Given the description of an element on the screen output the (x, y) to click on. 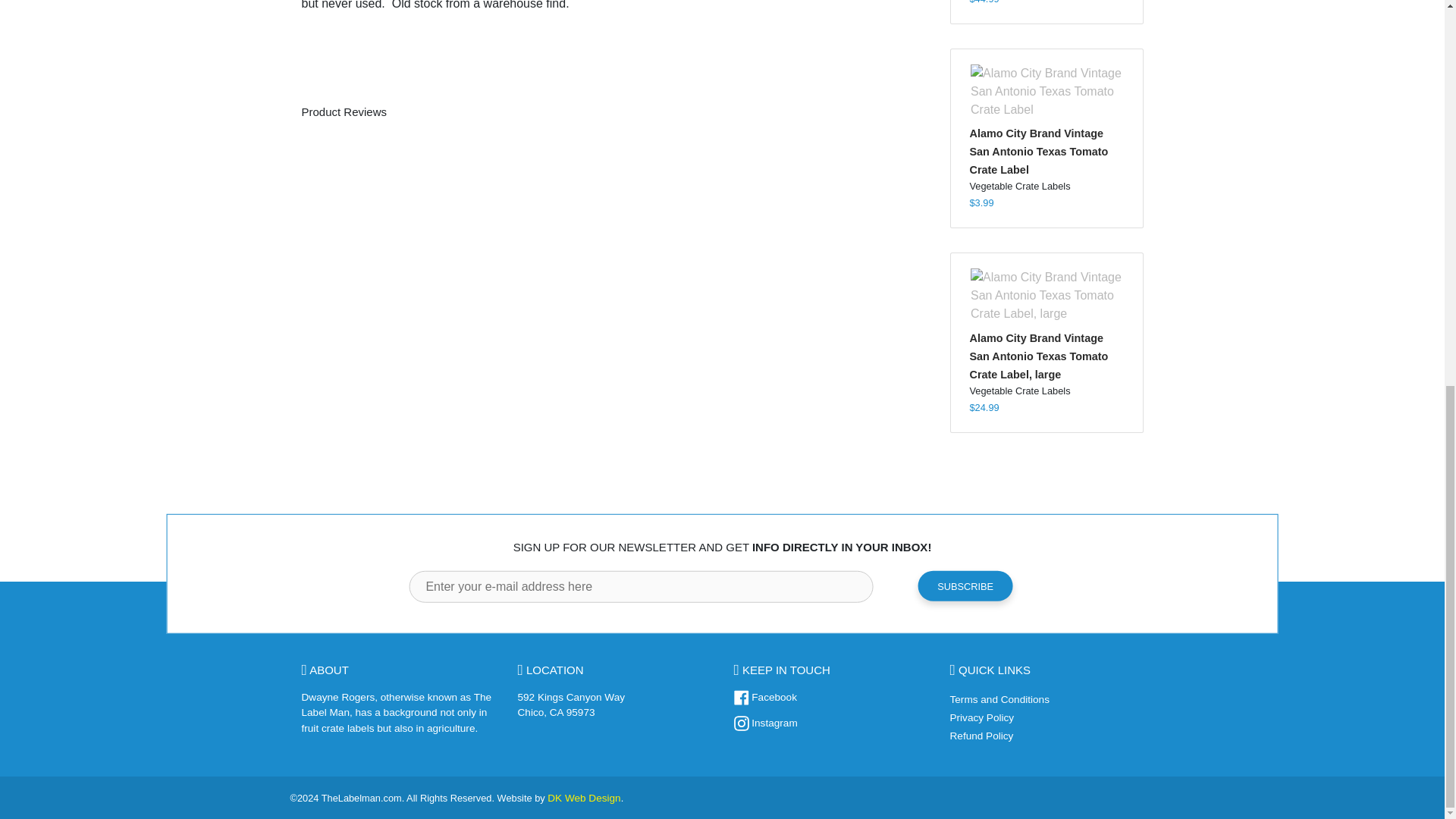
thelabelman on Facebook (764, 696)
thelabelman on Instagram (765, 722)
Subscribe (965, 585)
Enter your email address here (640, 586)
